Given the description of an element on the screen output the (x, y) to click on. 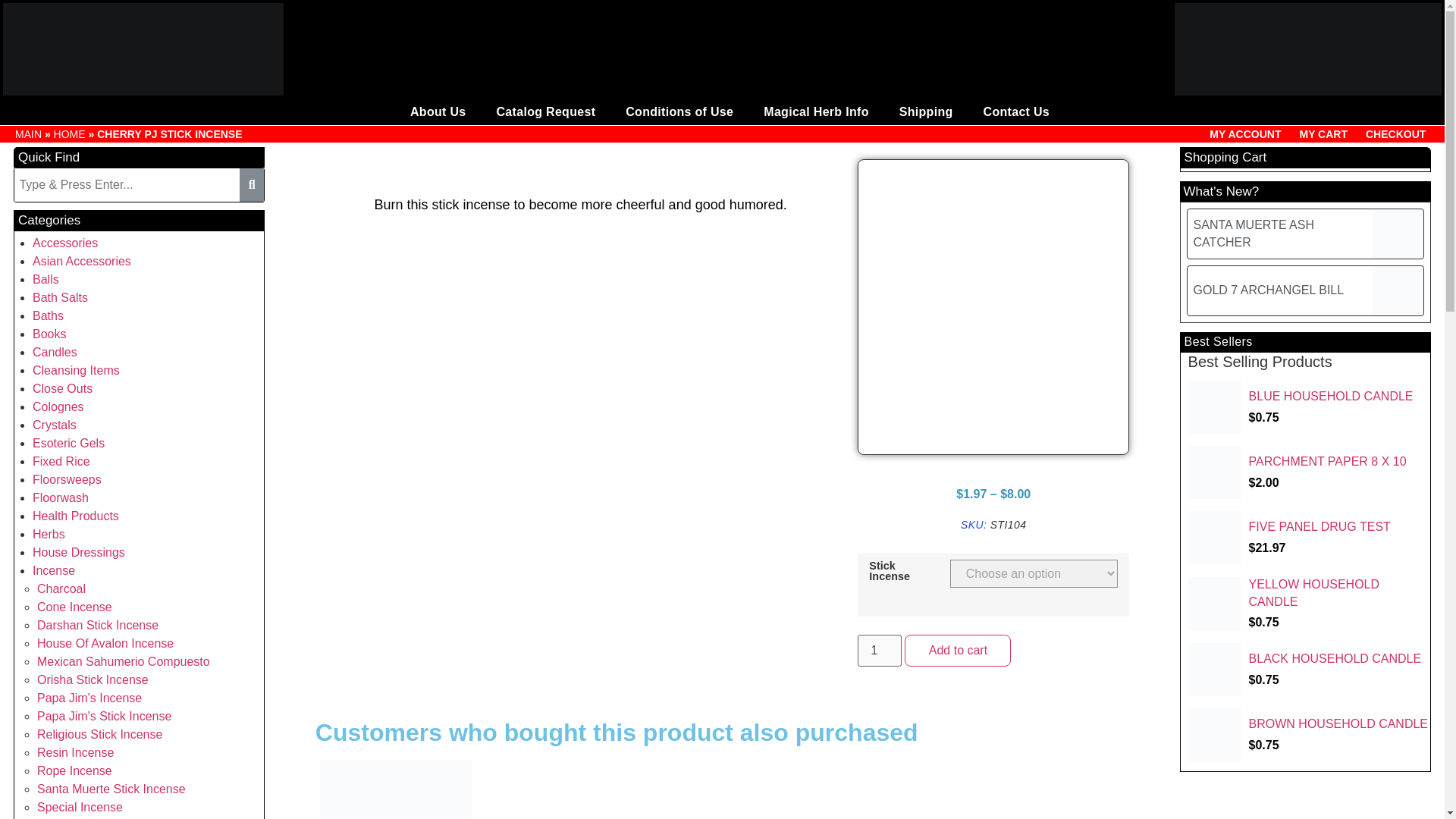
Charcoal (61, 588)
Mexican Sahumerio Compuesto (123, 661)
MY ACCOUNT (1244, 134)
Baths (48, 315)
MY CART (1323, 134)
Fixed Rice (61, 461)
Floorwash (60, 497)
Cleansing Items (75, 369)
Bath Salts (59, 297)
Balls (45, 278)
BROWN HOUSEHOLD CANDLE (1308, 734)
Close Outs (62, 388)
HOME (69, 133)
Floorsweeps (66, 479)
PARCHMENT PAPER 8 X 10 (1308, 471)
